Given the description of an element on the screen output the (x, y) to click on. 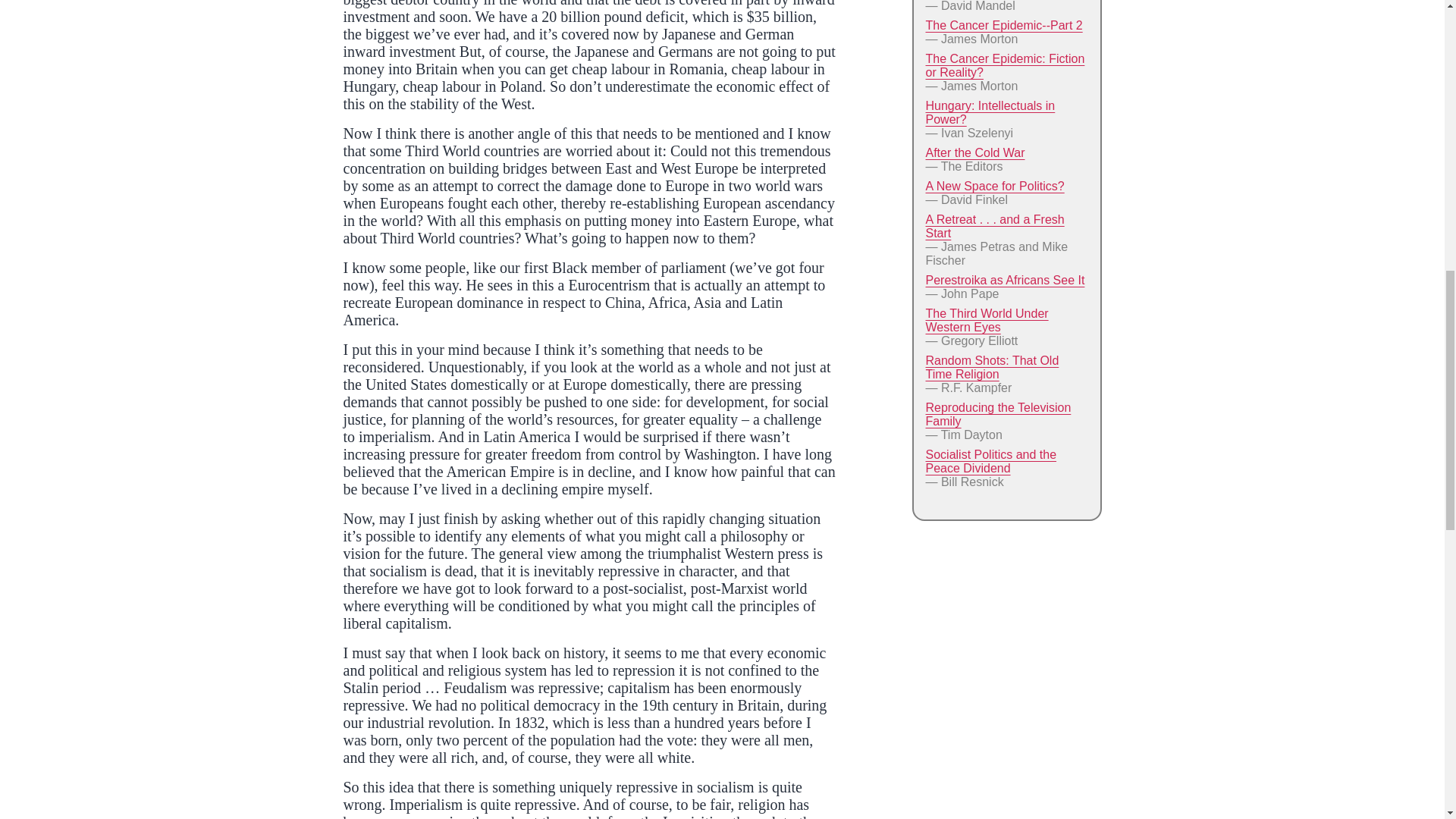
Hungary: Intellectuals in Power? (989, 112)
Perestroika as Africans See It (1004, 279)
The Cancer Epidemic: Fiction or Reality? (1004, 65)
Reproducing the Television Family (997, 414)
The Third World Under Western Eyes (986, 320)
The Cancer Epidemic--Part 2 (1002, 24)
A Retreat . . . and a Fresh Start (994, 225)
Random Shots: That Old Time Religion (991, 366)
Socialist Politics and the Peace Dividend (990, 461)
After the Cold War (974, 152)
